Given the description of an element on the screen output the (x, y) to click on. 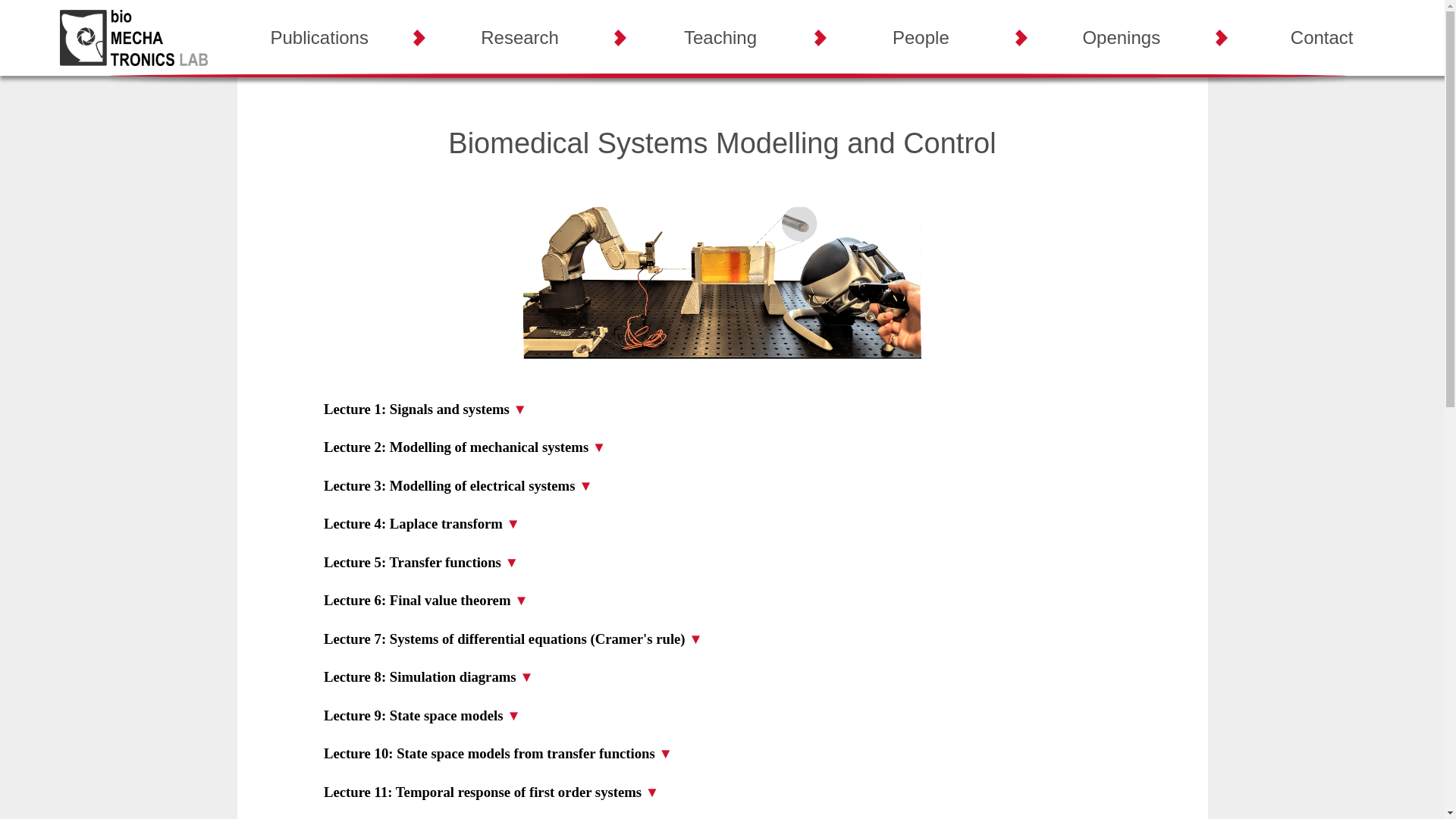
Research Element type: text (518, 37)
People Element type: text (920, 37)
Teaching Element type: text (719, 37)
Contact Element type: text (1321, 37)
Openings Element type: text (1121, 37)
Publications Element type: text (318, 37)
